Given the description of an element on the screen output the (x, y) to click on. 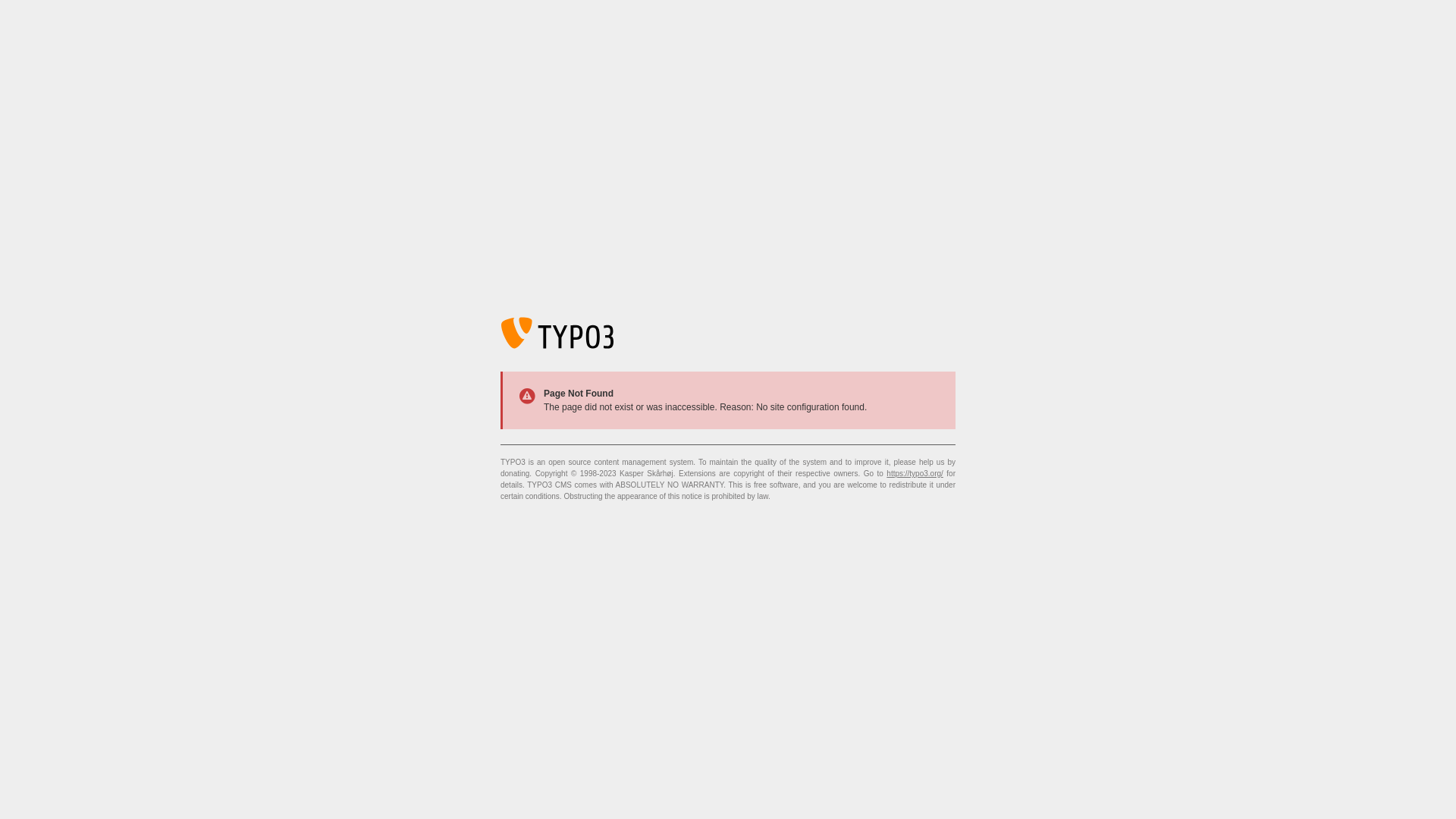
https://typo3.org/ Element type: text (914, 473)
